Given the description of an element on the screen output the (x, y) to click on. 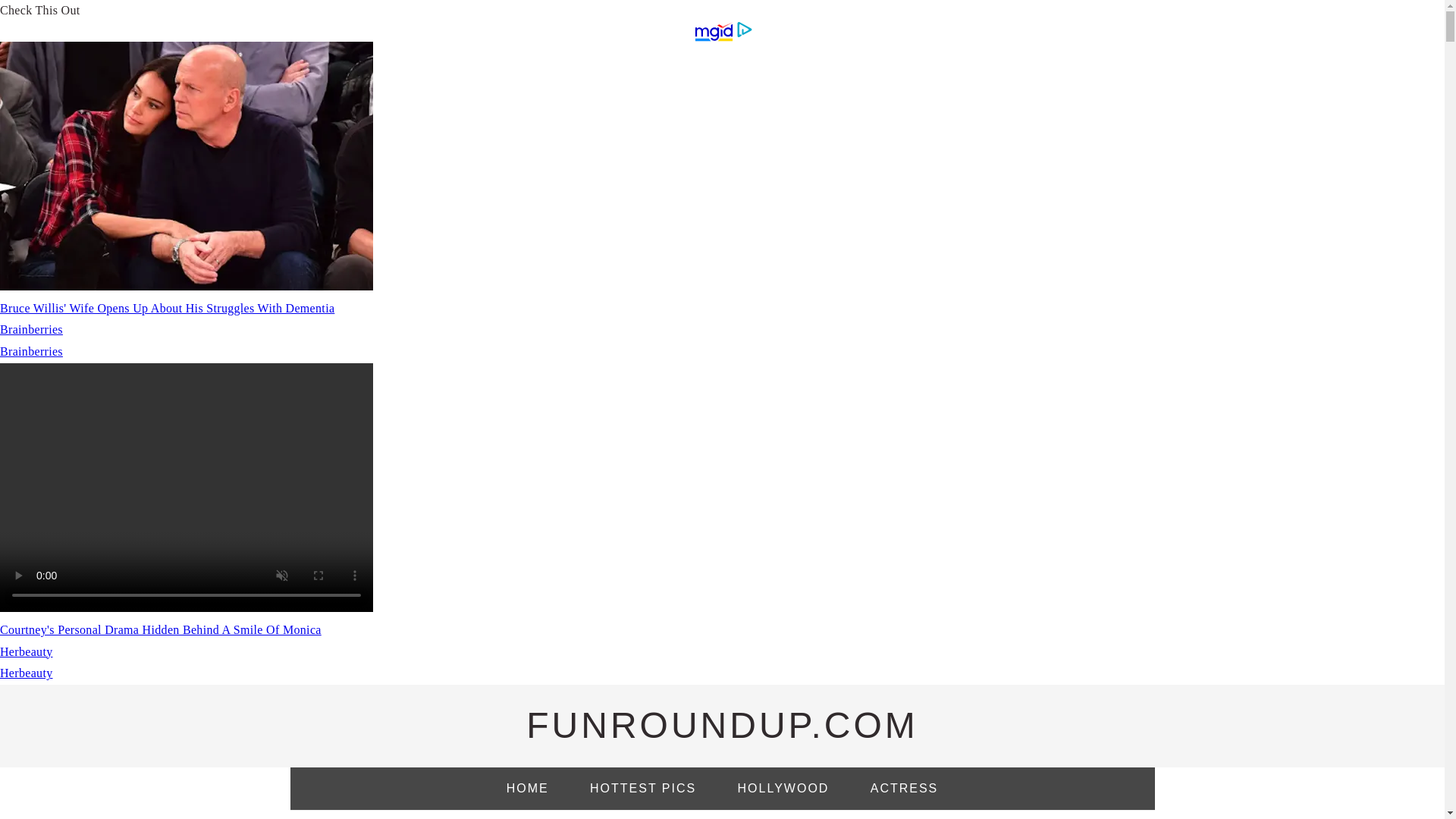
HOTTEST PICS (642, 788)
ACTRESS (904, 788)
HOME (527, 788)
HOLLYWOOD (783, 788)
FUNROUNDUP.COM (721, 725)
